Given the description of an element on the screen output the (x, y) to click on. 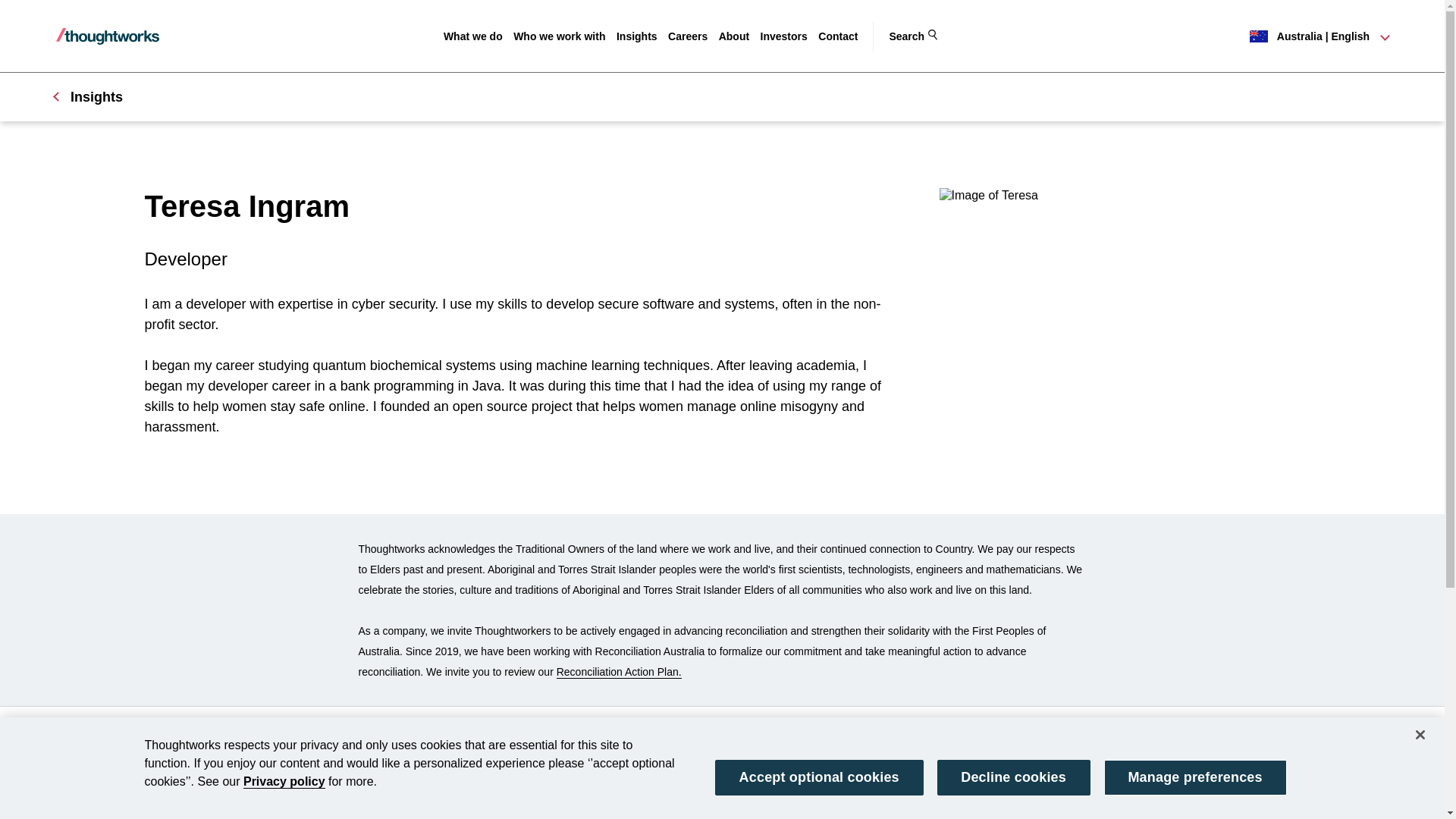
Who we work with (559, 36)
Insights (636, 36)
Insights (636, 36)
Thoughtworks (107, 36)
What we do (473, 36)
Thoughtworks (107, 36)
Careers (687, 36)
What we do (473, 36)
Who we work with (559, 36)
